Given the description of an element on the screen output the (x, y) to click on. 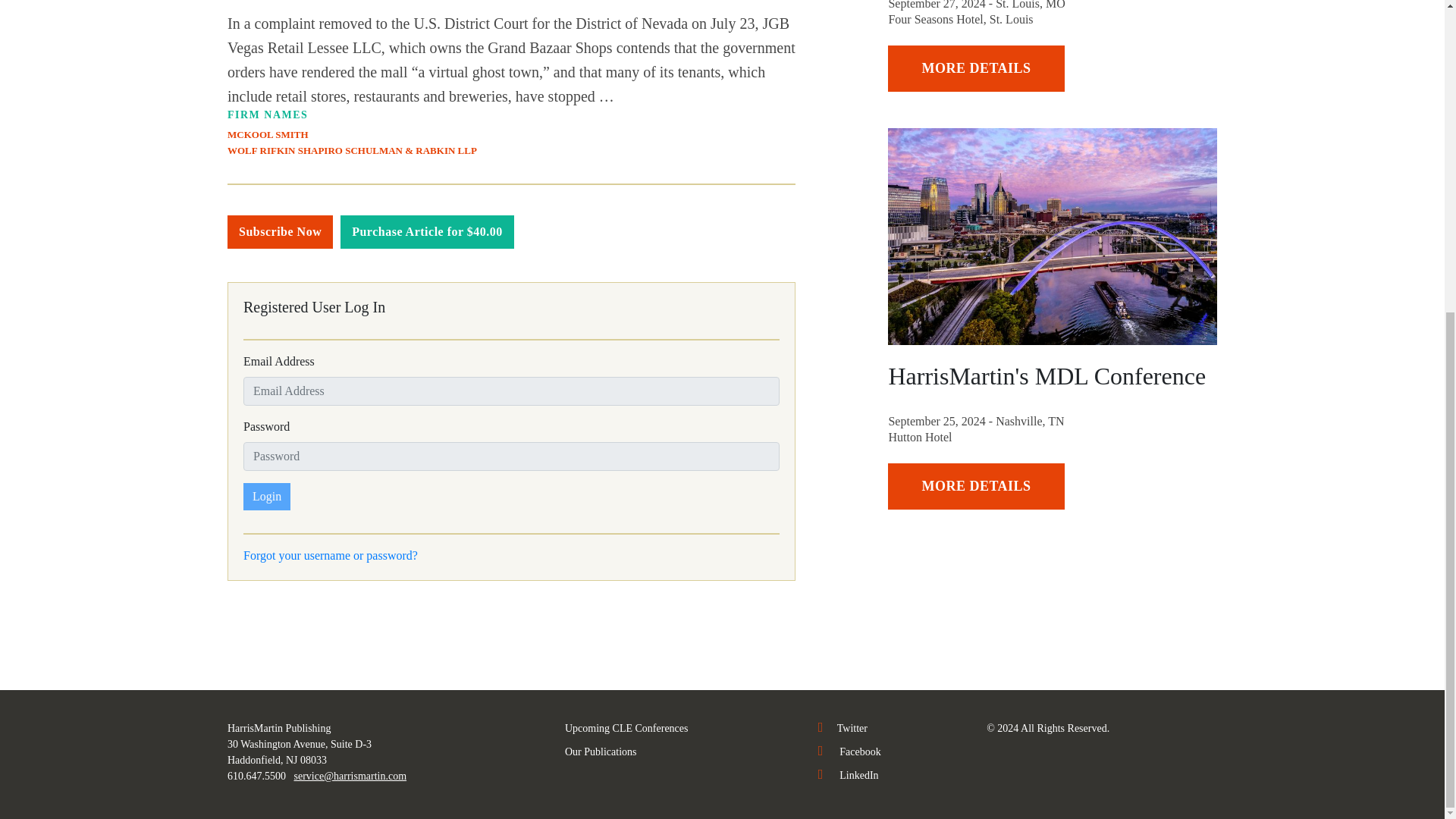
Subscribe Now (280, 231)
MORE DETAILS (976, 68)
Twitter (842, 727)
Upcoming CLE Conferences (626, 727)
Login (266, 496)
Facebook (849, 751)
Forgot your username or password? (330, 554)
MORE DETAILS (976, 486)
LinkedIn (848, 775)
Our Publications (600, 751)
